Given the description of an element on the screen output the (x, y) to click on. 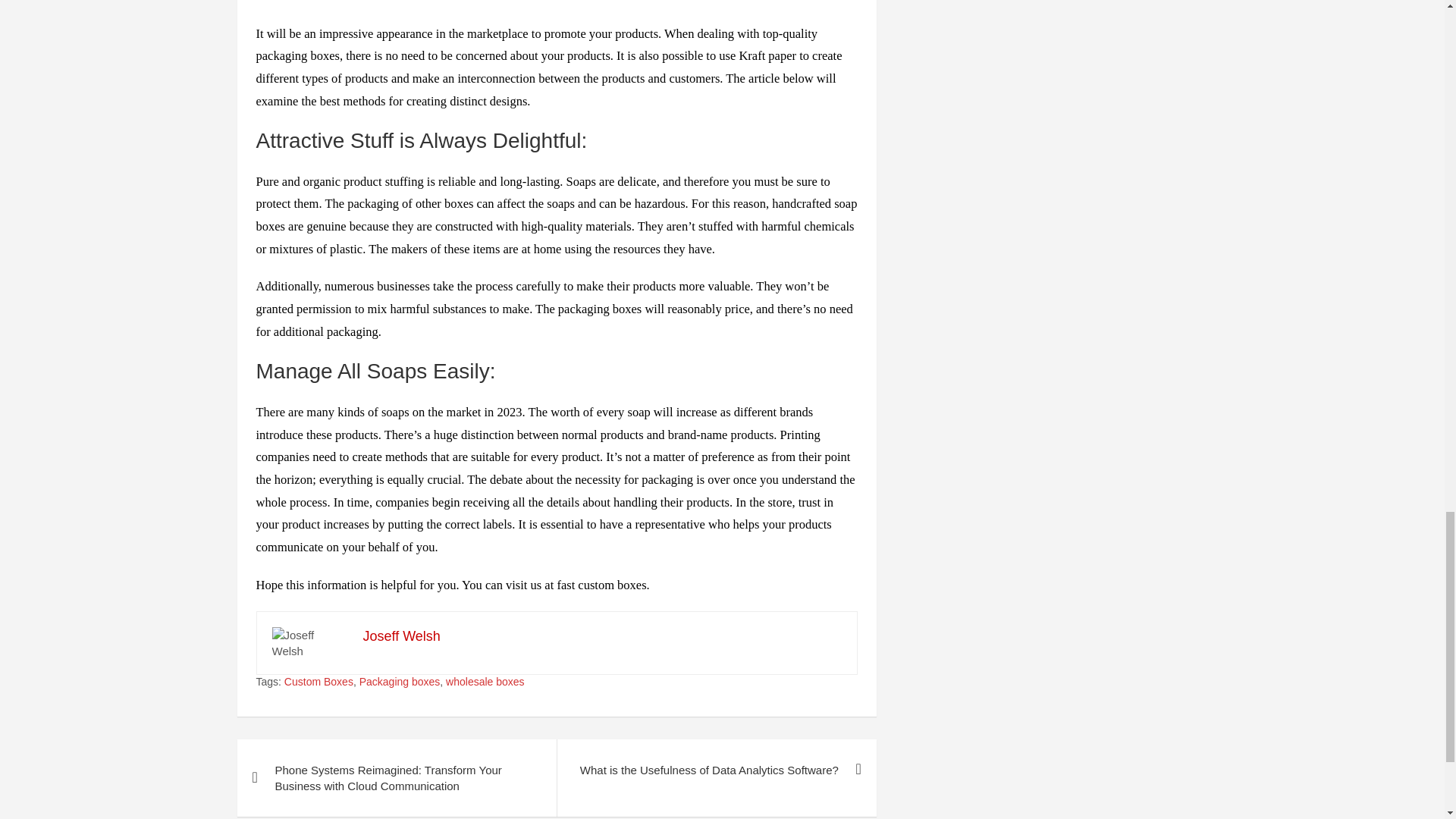
Custom Boxes (318, 682)
Joseff Welsh (400, 635)
Packaging boxes (400, 682)
wholesale boxes (484, 682)
What is the Usefulness of Data Analytics Software? (716, 769)
